Given the description of an element on the screen output the (x, y) to click on. 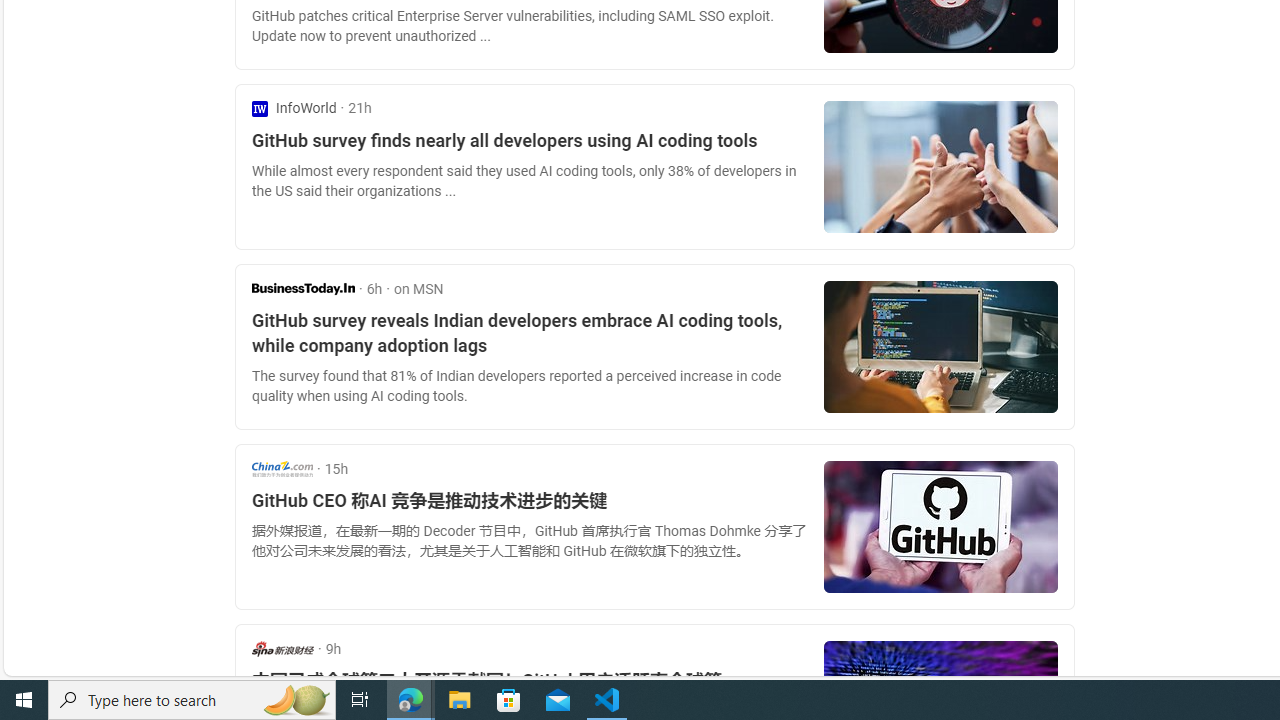
Business Today (303, 288)
Search news from InfoWorld (294, 108)
